Given the description of an element on the screen output the (x, y) to click on. 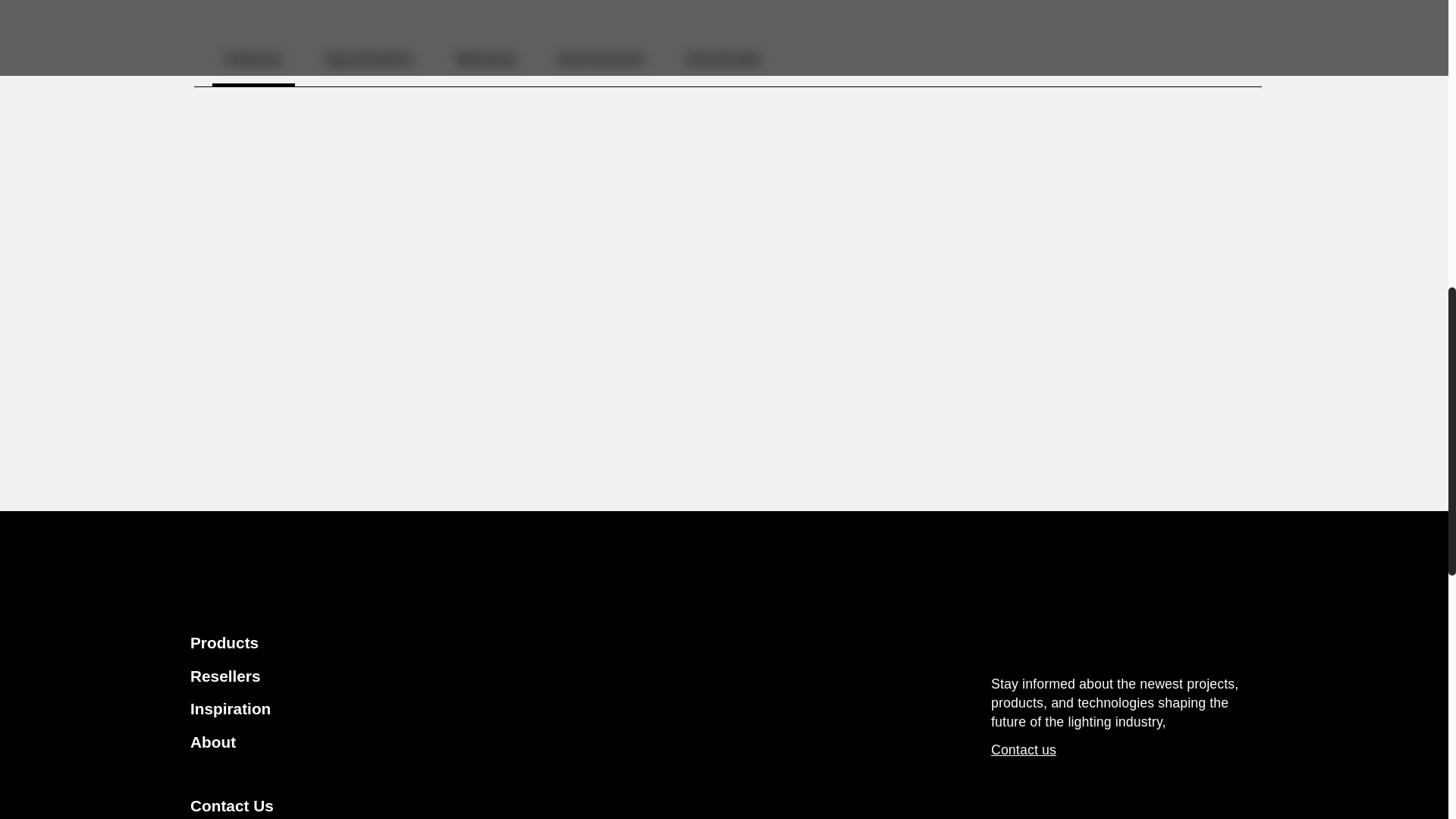
Contact us (727, 64)
Downloads (1024, 749)
Resellers (724, 64)
Specification (501, 676)
Environment (369, 64)
Inspiration (601, 64)
Contact Us (501, 708)
Warranty (501, 805)
Products (486, 64)
